Given the description of an element on the screen output the (x, y) to click on. 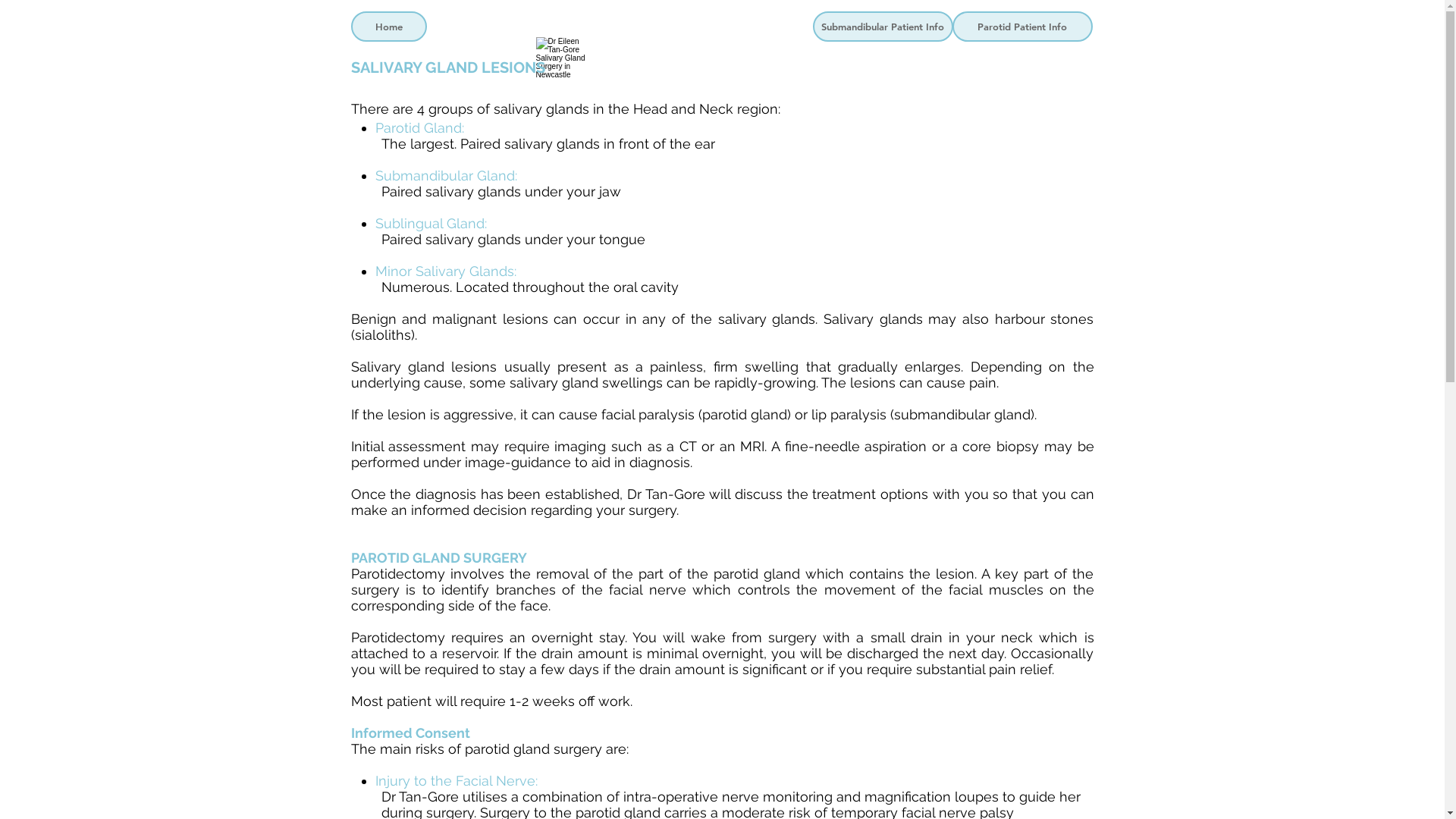
Parotid Patient Info Element type: text (1022, 26)
Home Element type: text (388, 26)
Submandibular Patient Info Element type: text (882, 26)
